Given the description of an element on the screen output the (x, y) to click on. 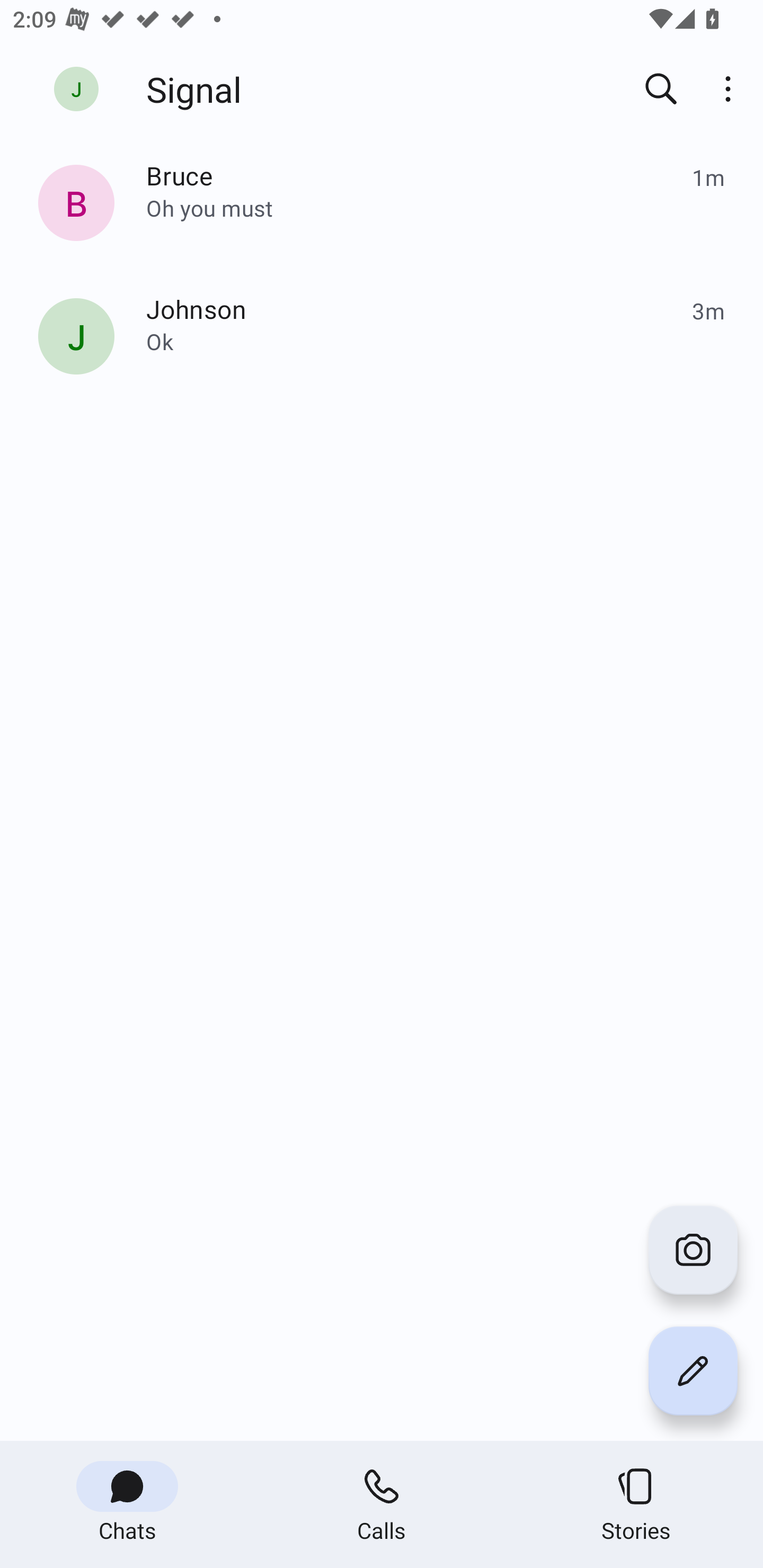
More options (731, 88)
